Given the description of an element on the screen output the (x, y) to click on. 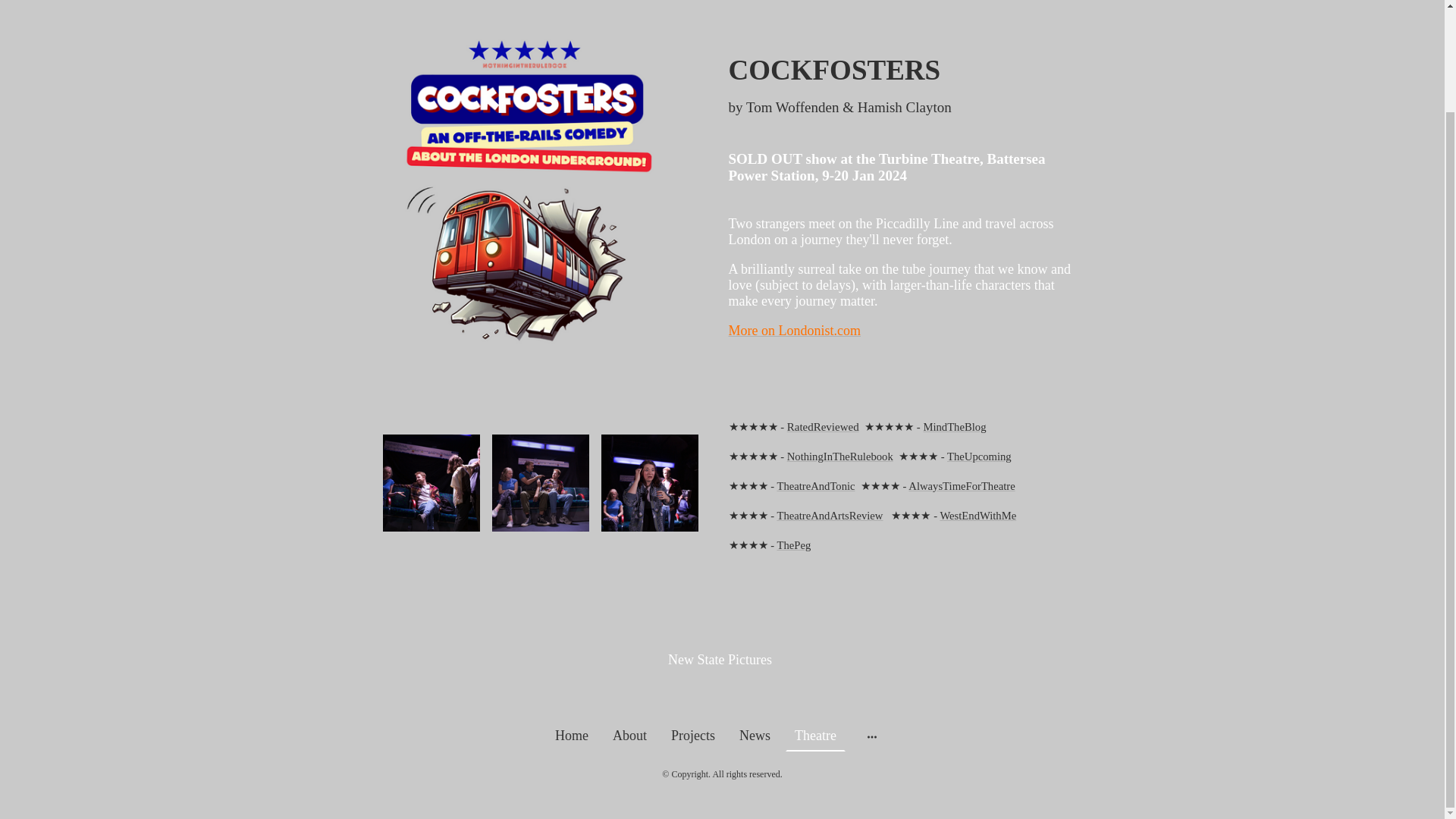
ThePeg (793, 544)
TheUpcoming (979, 455)
WestEndWithMe (977, 514)
Theatre (815, 735)
AlwaysTimeForTheatre (961, 485)
About (629, 735)
MindTheBlog (954, 426)
New State Pictures (721, 688)
New State Pictures (721, 653)
TheatreAndTonic (815, 485)
